Given the description of an element on the screen output the (x, y) to click on. 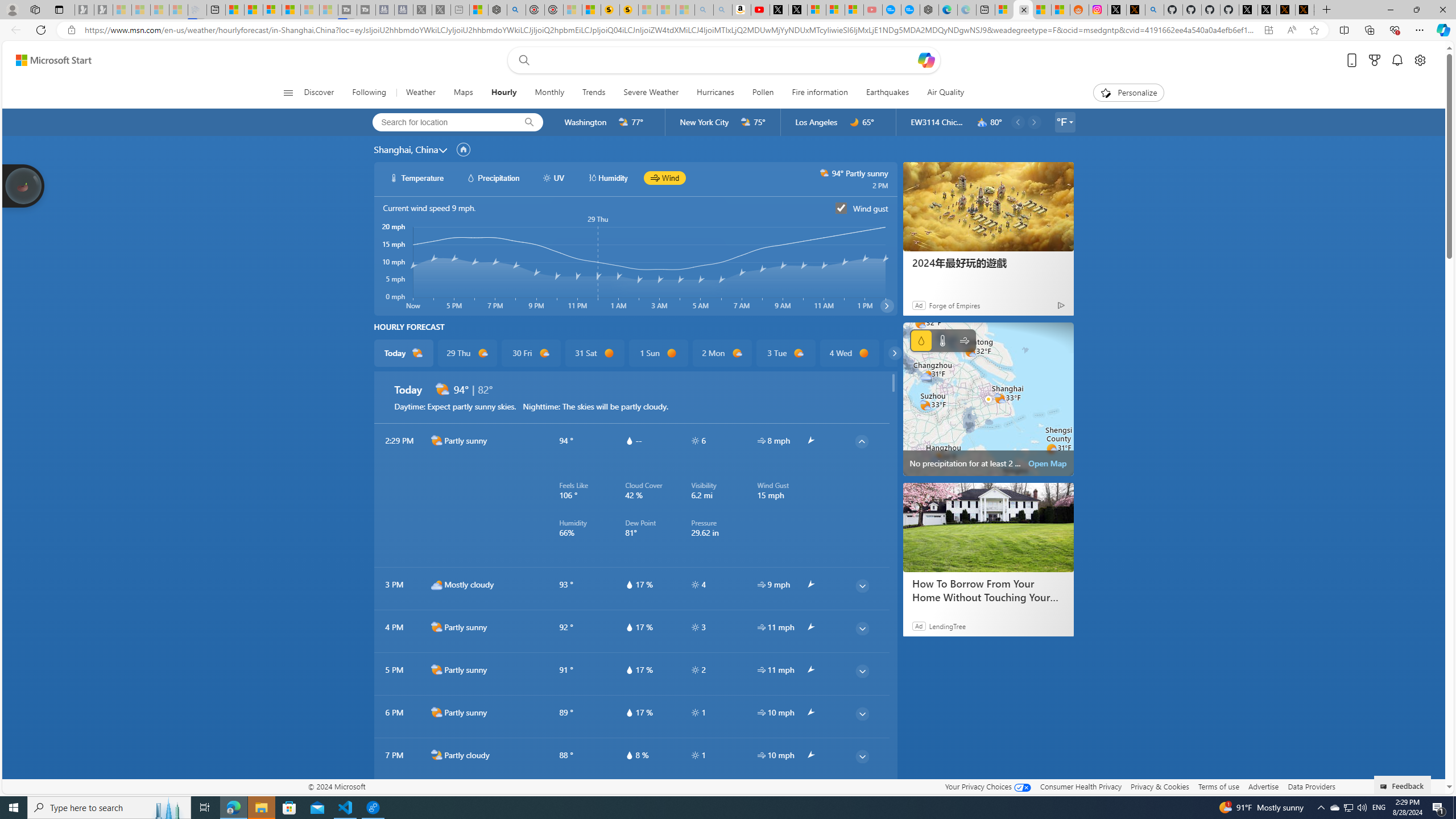
hourlyChart/precipitationWhite (470, 177)
Fire information (820, 92)
Overview (271, 9)
hourlyChart/temperatureWhite (394, 177)
Data Providers (1311, 786)
Class: miniMapRadarSVGView-DS-EntryPoint1-1 (988, 398)
Wind gust (841, 207)
